Given the description of an element on the screen output the (x, y) to click on. 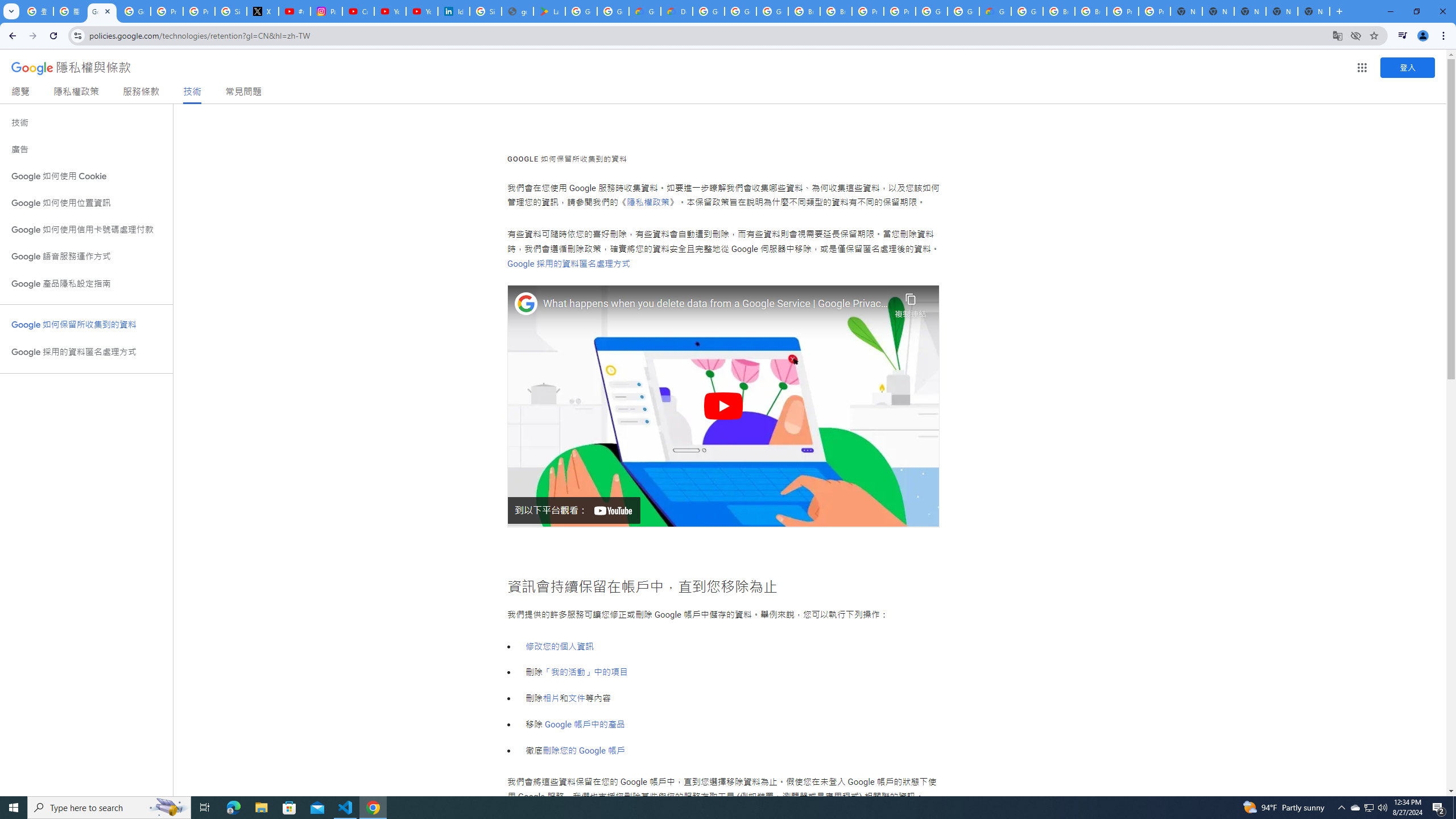
YouTube Culture & Trends - YouTube Top 10, 2021 (421, 11)
Identity verification via Persona | LinkedIn Help (453, 11)
Google Workspace - Specific Terms (613, 11)
Google Cloud Platform (963, 11)
#nbabasketballhighlights - YouTube (294, 11)
Google Cloud Platform (1027, 11)
Browse Chrome as a guest - Computer - Google Chrome Help (1059, 11)
